Given the description of an element on the screen output the (x, y) to click on. 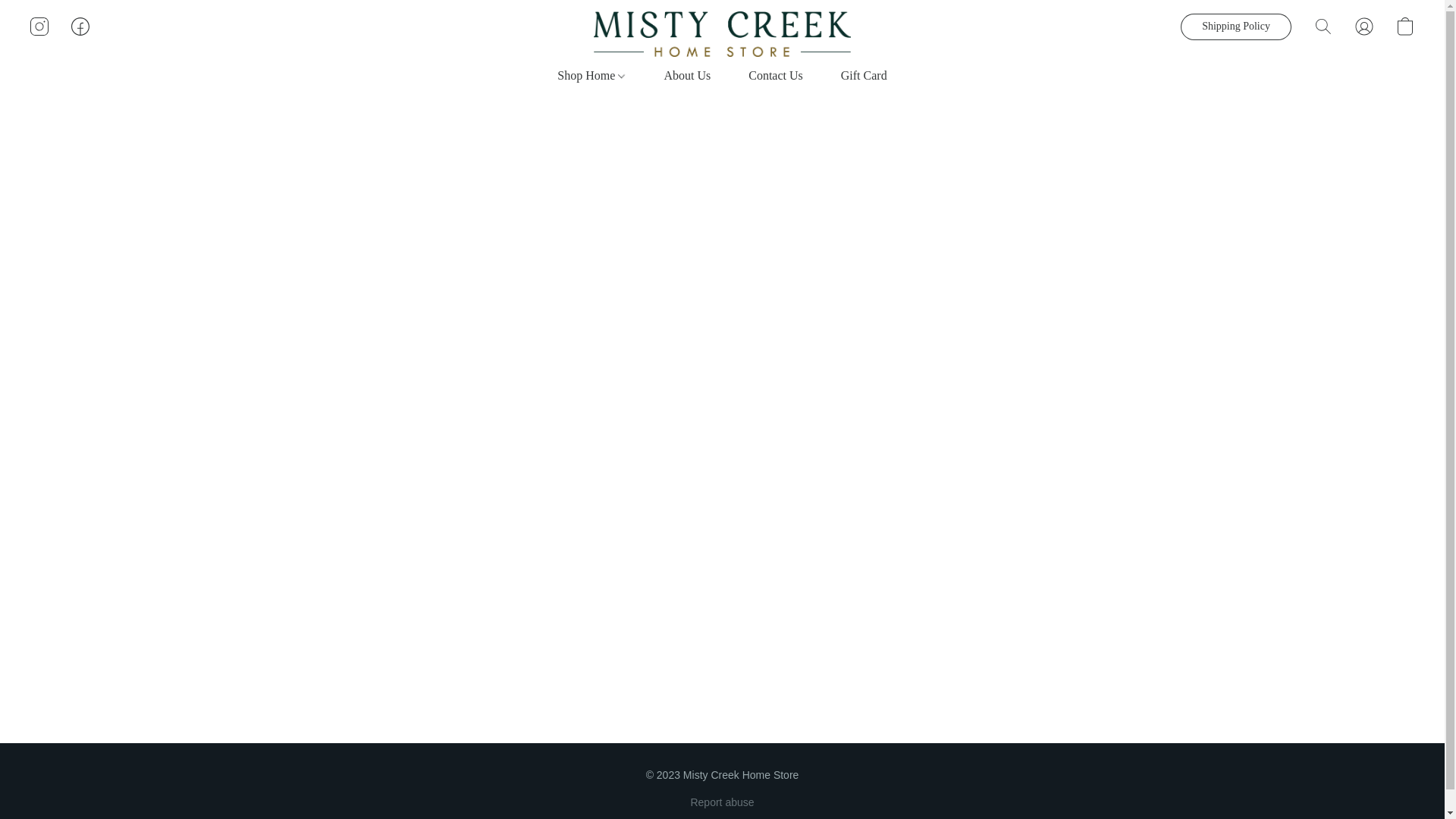
Gift Card (854, 75)
Contact Us (775, 75)
Report abuse (722, 802)
Search the website (1323, 26)
About Us (687, 75)
Go to your shopping cart (1404, 26)
Shop Home (601, 75)
Shipping Policy (1235, 26)
